Given the description of an element on the screen output the (x, y) to click on. 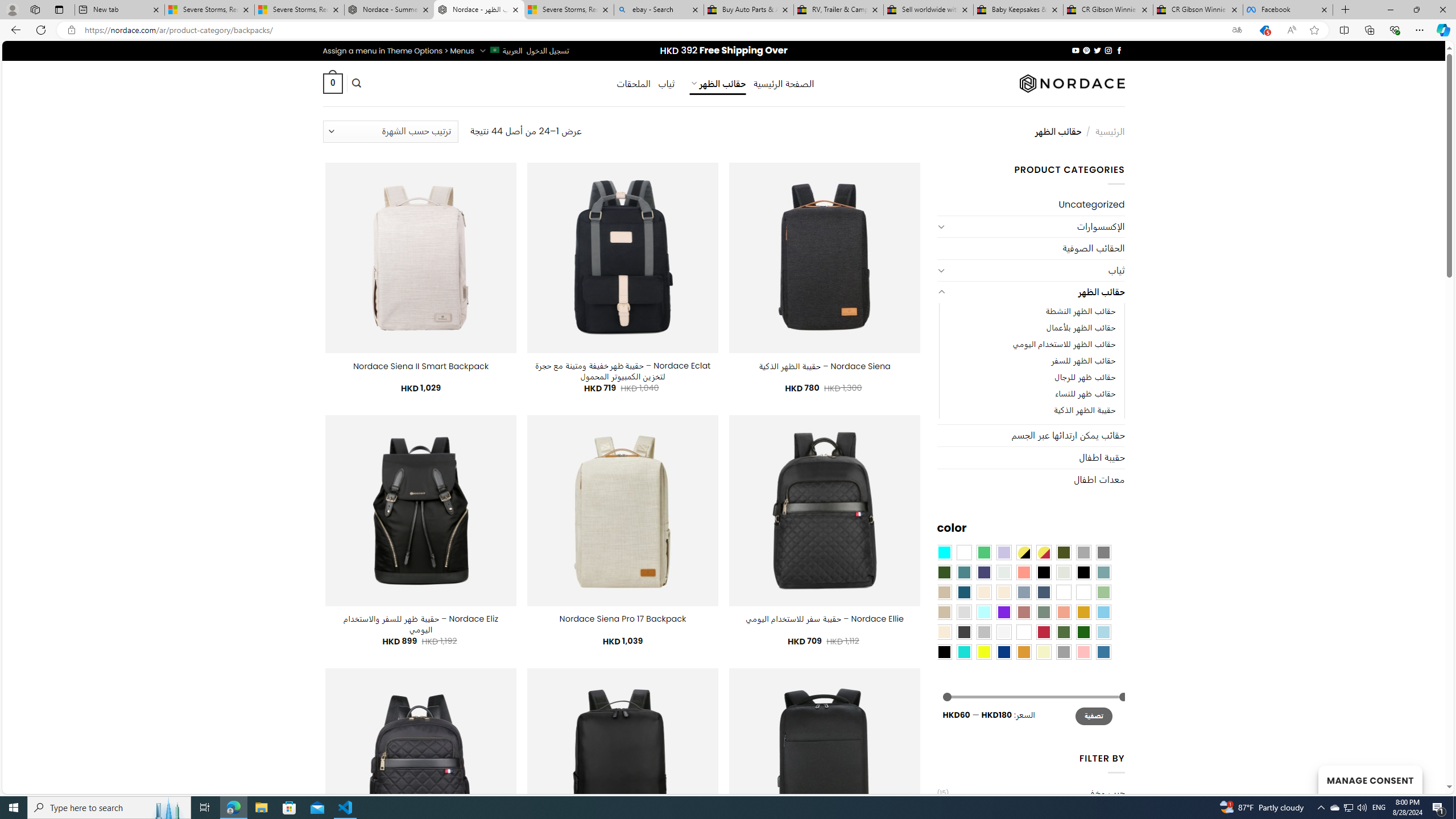
Sage (1043, 611)
Dull Nickle (1003, 572)
Dusty Blue (1023, 591)
RV, Trailer & Camper Steps & Ladders for sale | eBay (838, 9)
 0  (332, 83)
Yellow-Red (1043, 551)
Hale Navy (1043, 591)
